Given the description of an element on the screen output the (x, y) to click on. 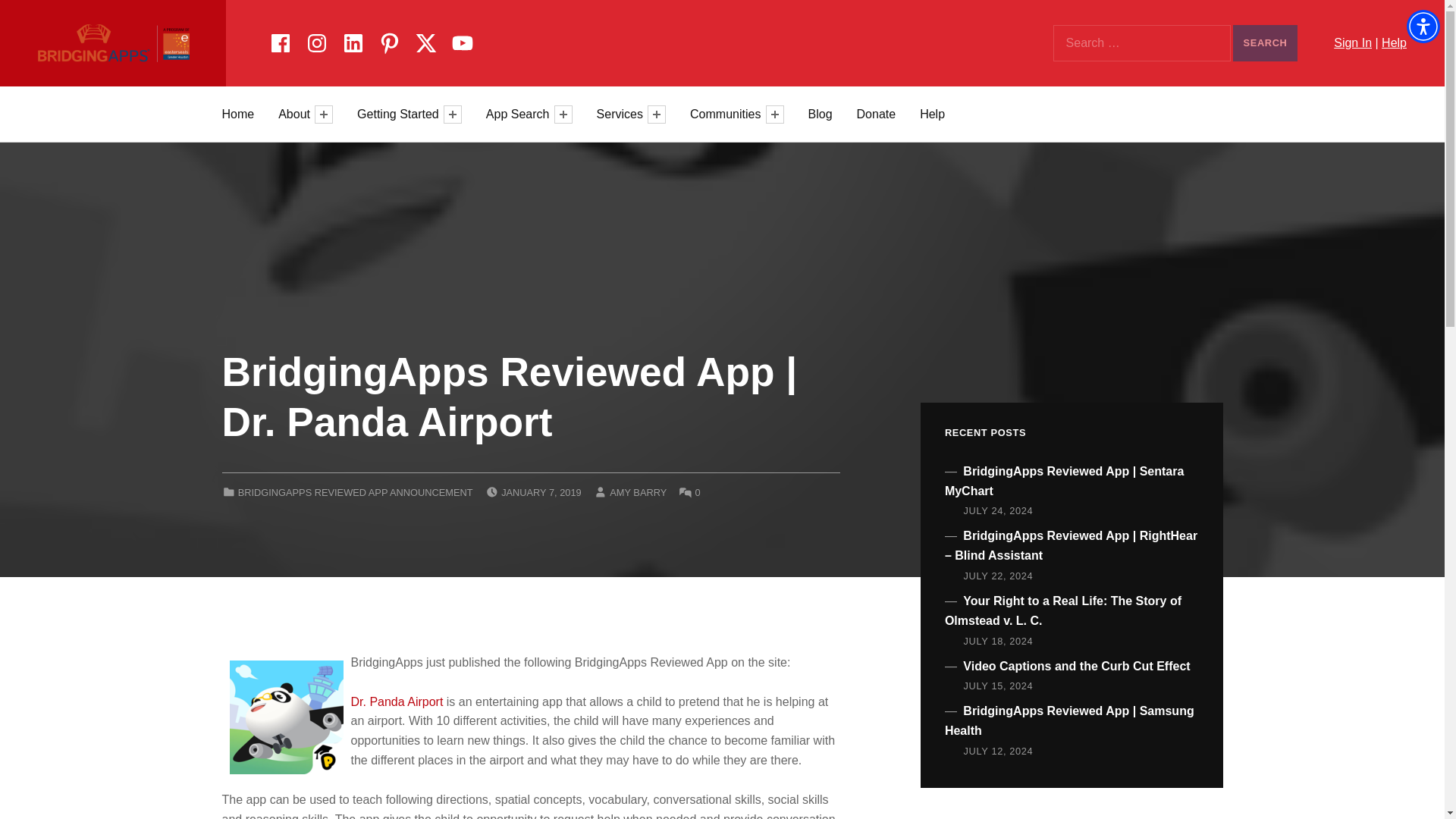
LinkedIn (352, 40)
Pinterest (389, 40)
App Search (520, 114)
Search (1265, 43)
Sign In (1352, 42)
Help (1393, 42)
YouTube (462, 40)
Accessibility Menu (1422, 26)
About (296, 114)
Getting Started (400, 114)
Comments: 0 (697, 491)
Facebook (280, 40)
Home (237, 114)
Search (1265, 43)
Search (1265, 43)
